Given the description of an element on the screen output the (x, y) to click on. 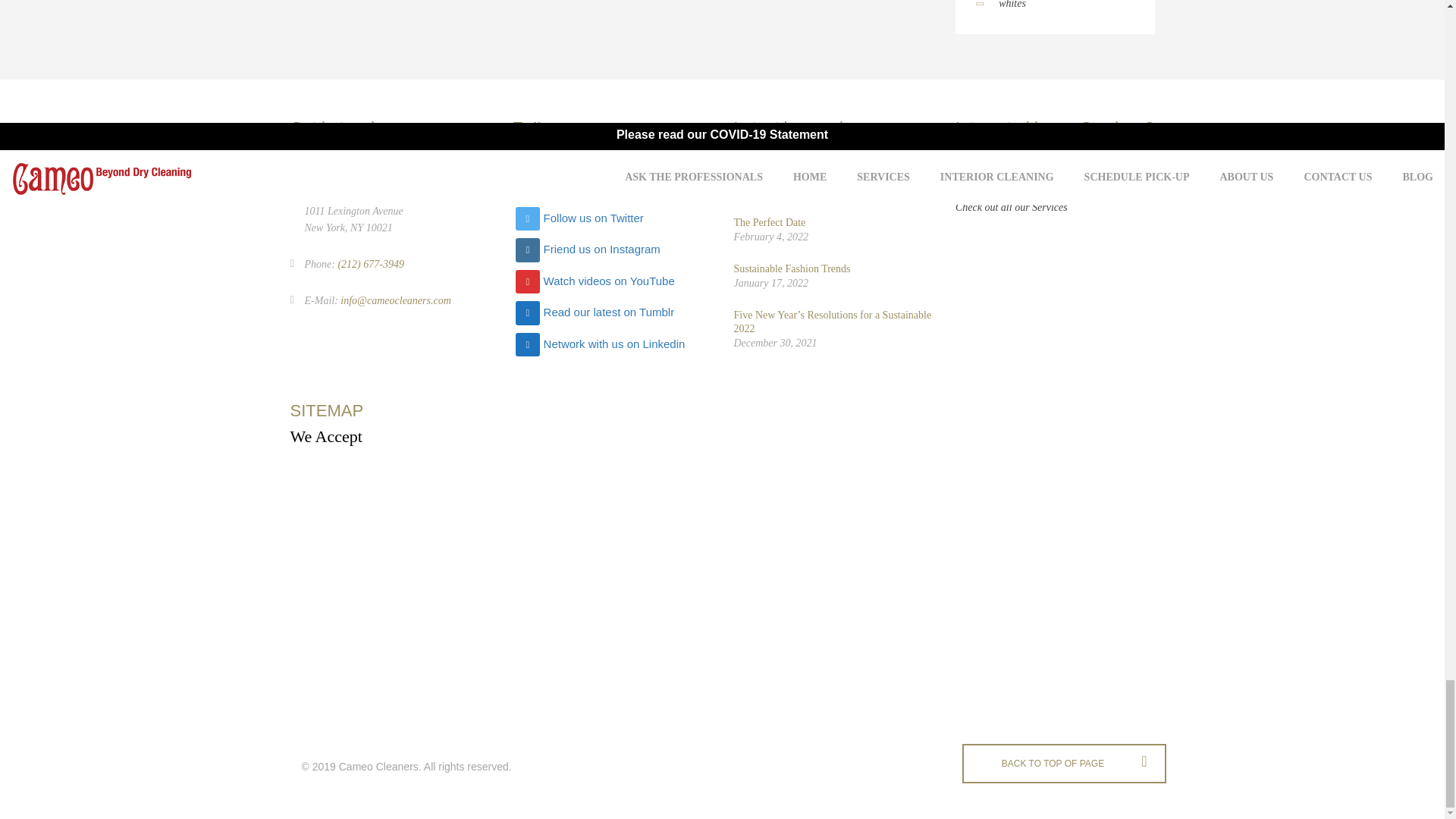
New York Cleaners (410, 492)
